Given the description of an element on the screen output the (x, y) to click on. 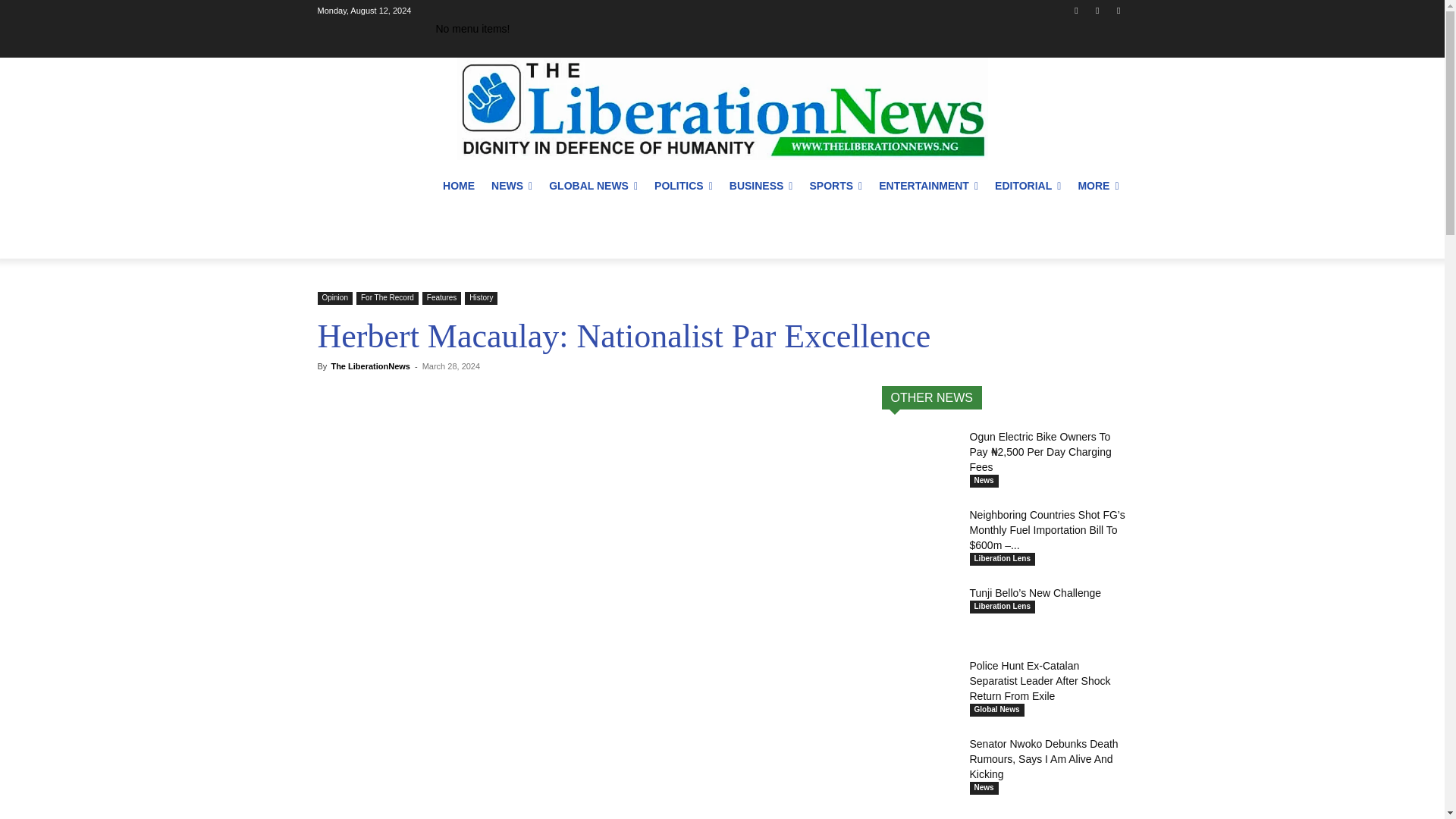
Facebook (1075, 9)
NEWS (511, 185)
HOME (458, 185)
Twitter (1117, 9)
Instagram (1097, 9)
